Given the description of an element on the screen output the (x, y) to click on. 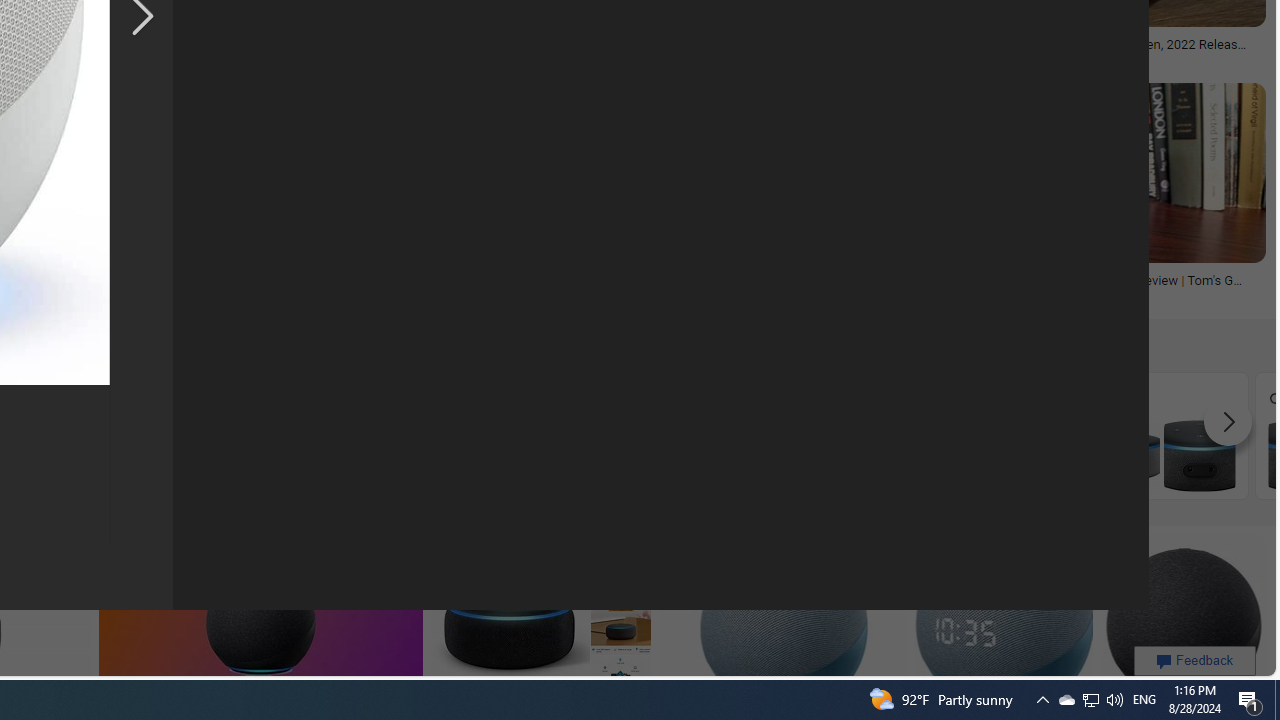
Ausdroid (419, 295)
Amazon Echo Dot (4th gen) review | Tom's Guide (1118, 286)
Tom's Guide (1118, 295)
geizhals.de (192, 295)
Ausdroid (330, 294)
Amazon Echo Dot Sales Chart (981, 455)
Carpher (441, 435)
Amazon Echo Dot Carpher Carpher (441, 435)
